Given the description of an element on the screen output the (x, y) to click on. 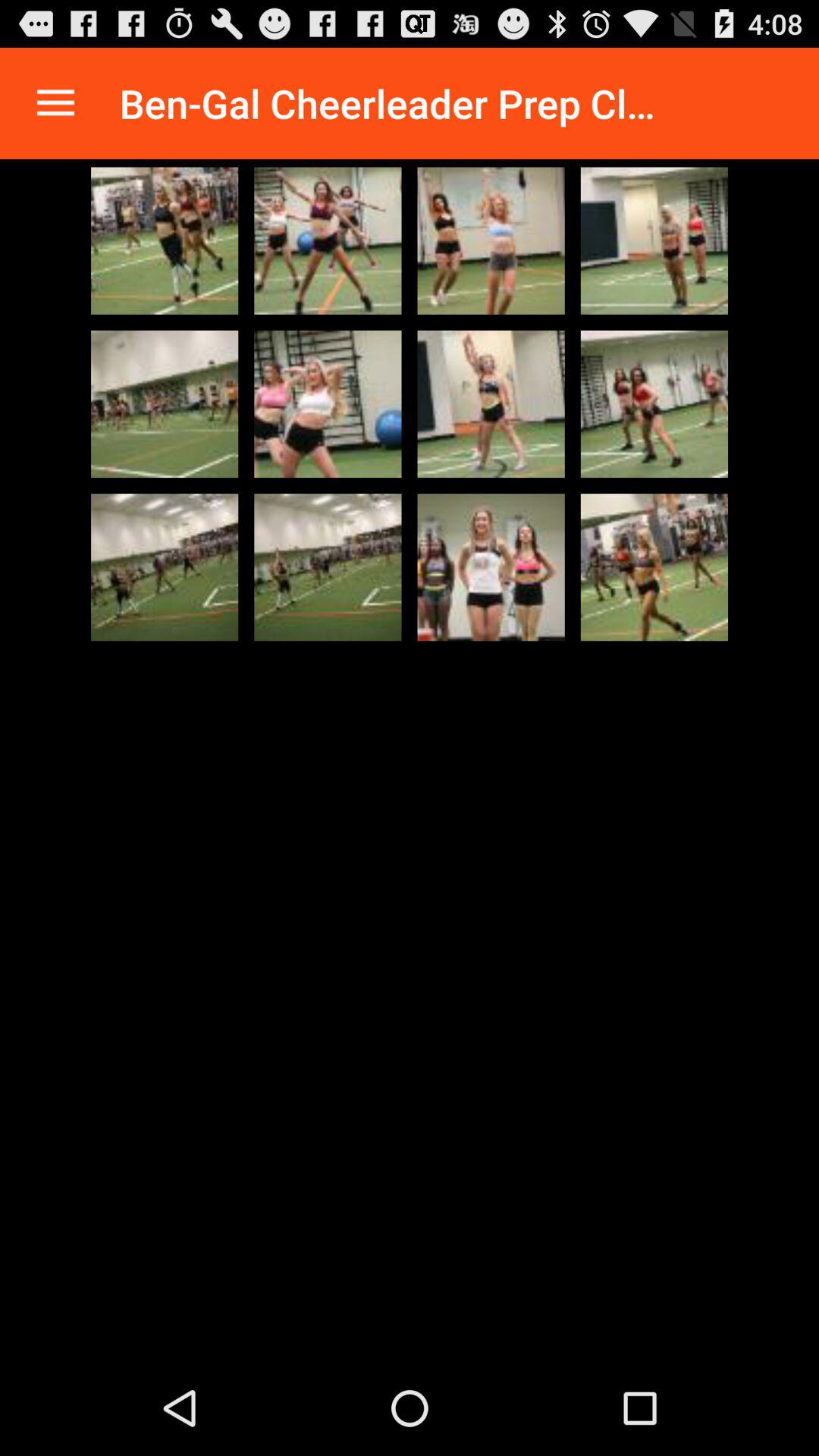
view selected photo (164, 240)
